Given the description of an element on the screen output the (x, y) to click on. 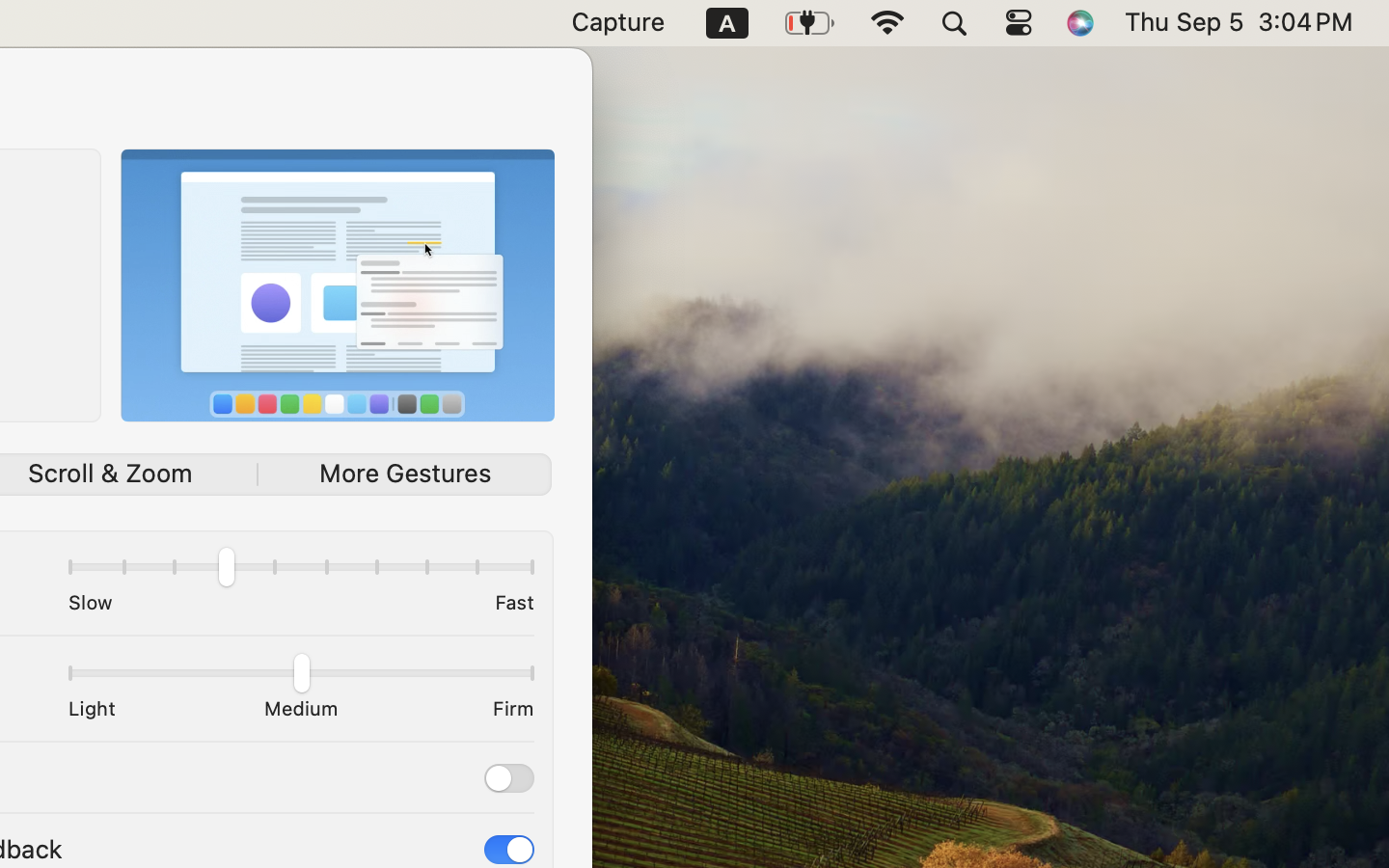
1.0 Element type: AXSlider (299, 677)
3.0 Element type: AXSlider (299, 570)
